Given the description of an element on the screen output the (x, y) to click on. 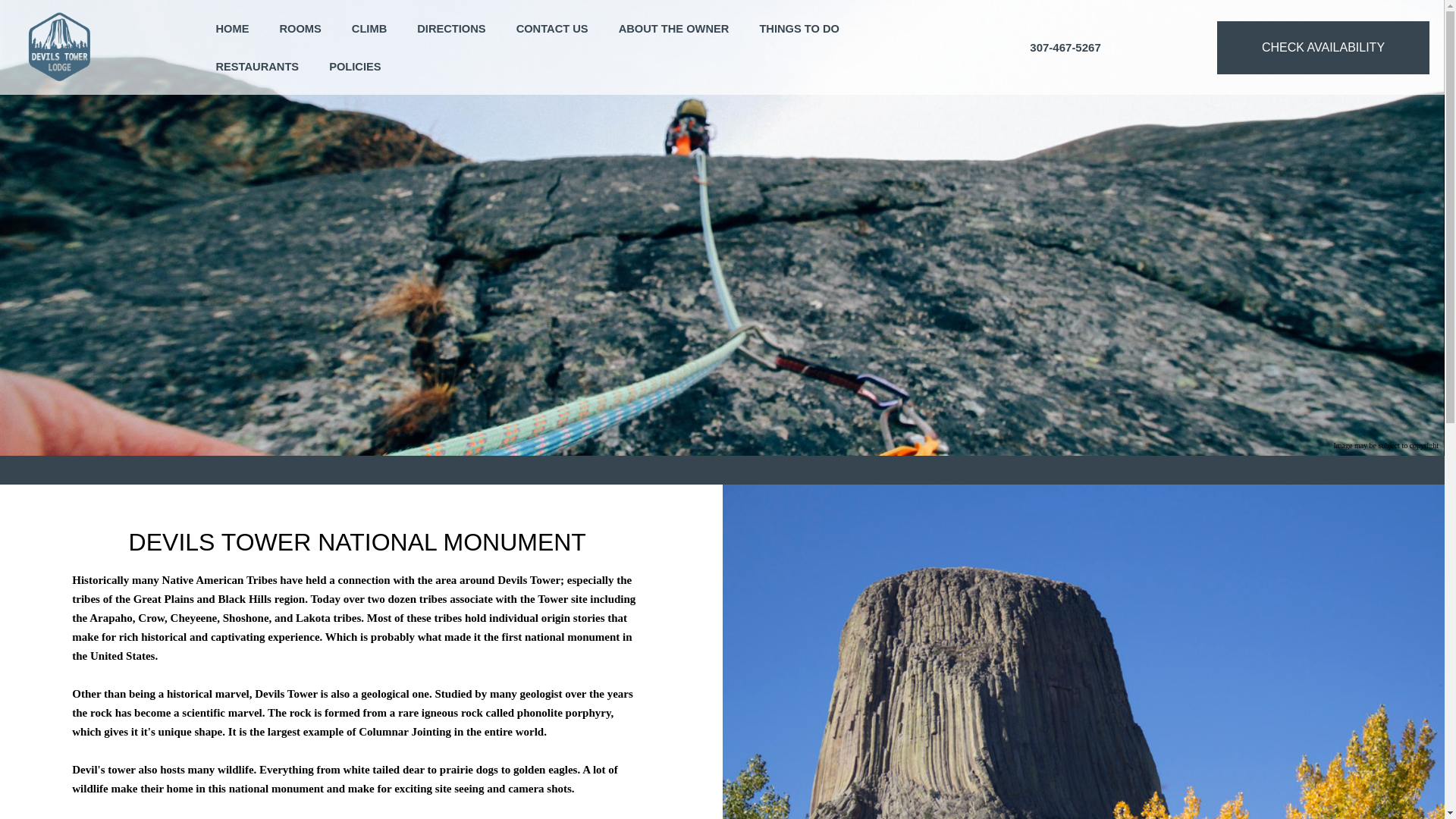
DIRECTIONS (450, 28)
CLIMB (369, 28)
HOME (231, 28)
ABOUT THE OWNER (673, 28)
THINGS TO DO (799, 28)
ROOMS (299, 28)
POLICIES (354, 66)
CHECK AVAILABILITY (1323, 47)
CONTACT US (552, 28)
307-467-5267 (1064, 47)
RESTAURANTS (256, 66)
